Given the description of an element on the screen output the (x, y) to click on. 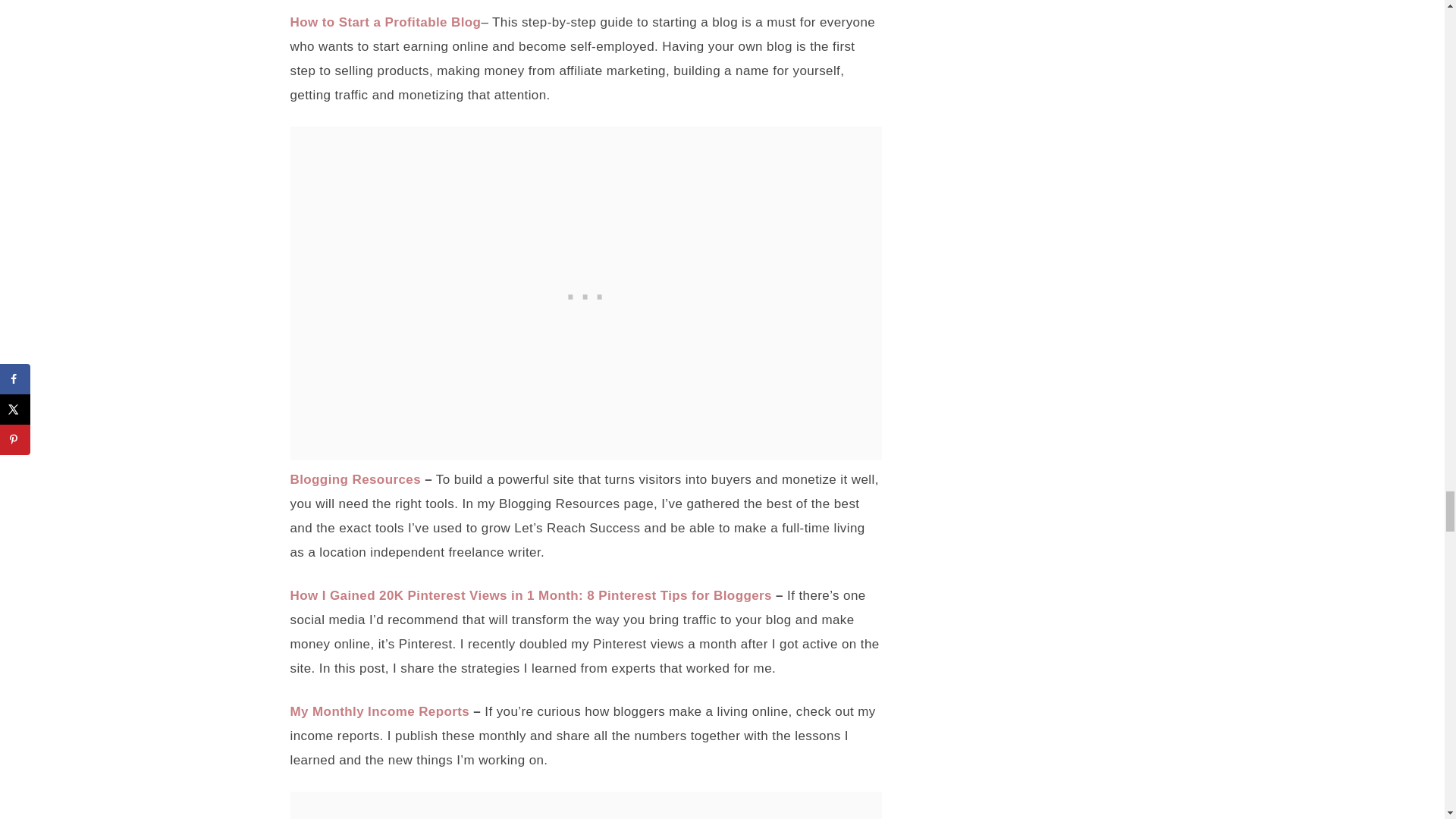
How to Start a Profitable Blog (384, 22)
Blogging Resources (354, 479)
